Given the description of an element on the screen output the (x, y) to click on. 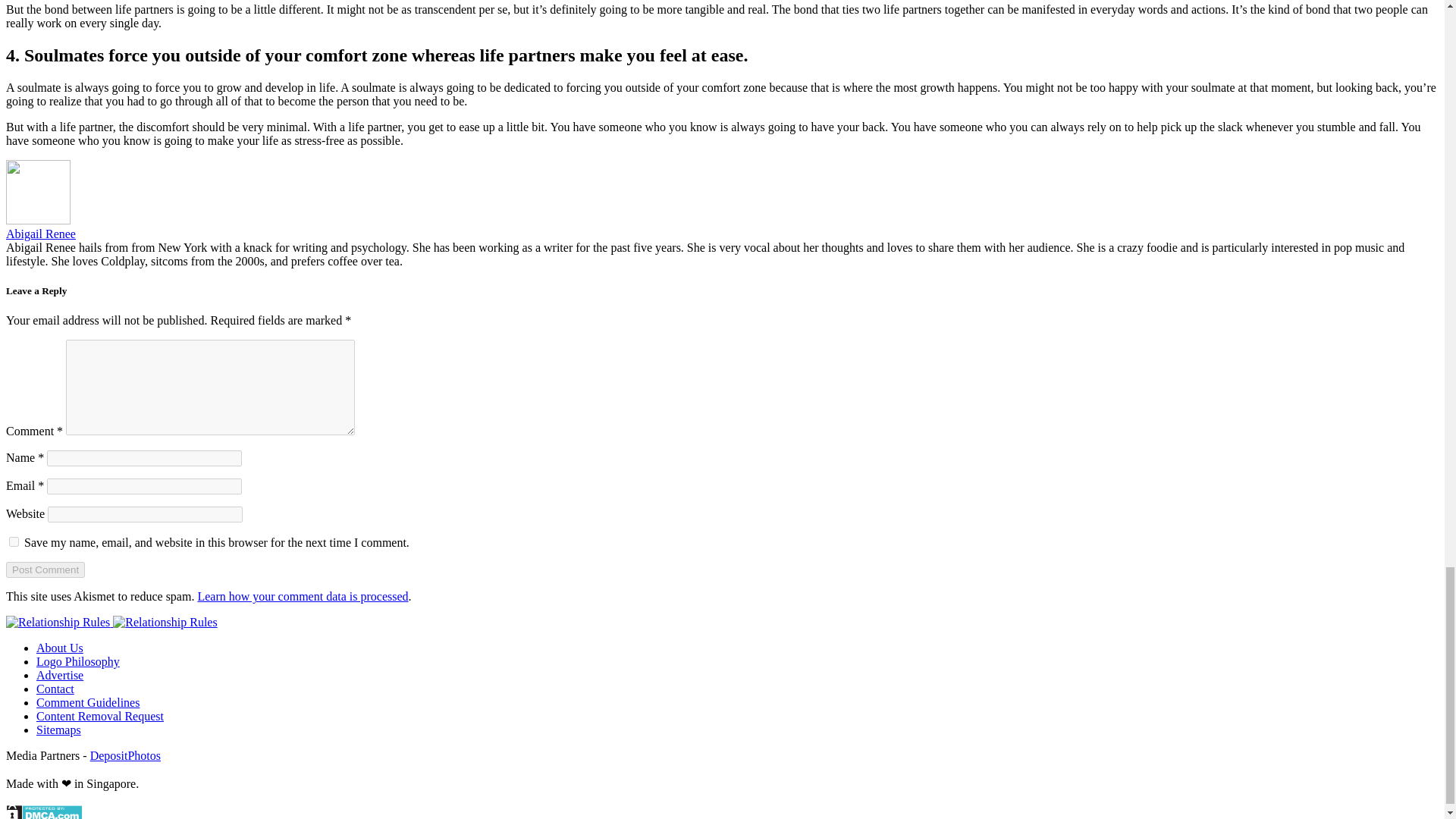
yes (13, 542)
Post Comment (44, 569)
